Given the description of an element on the screen output the (x, y) to click on. 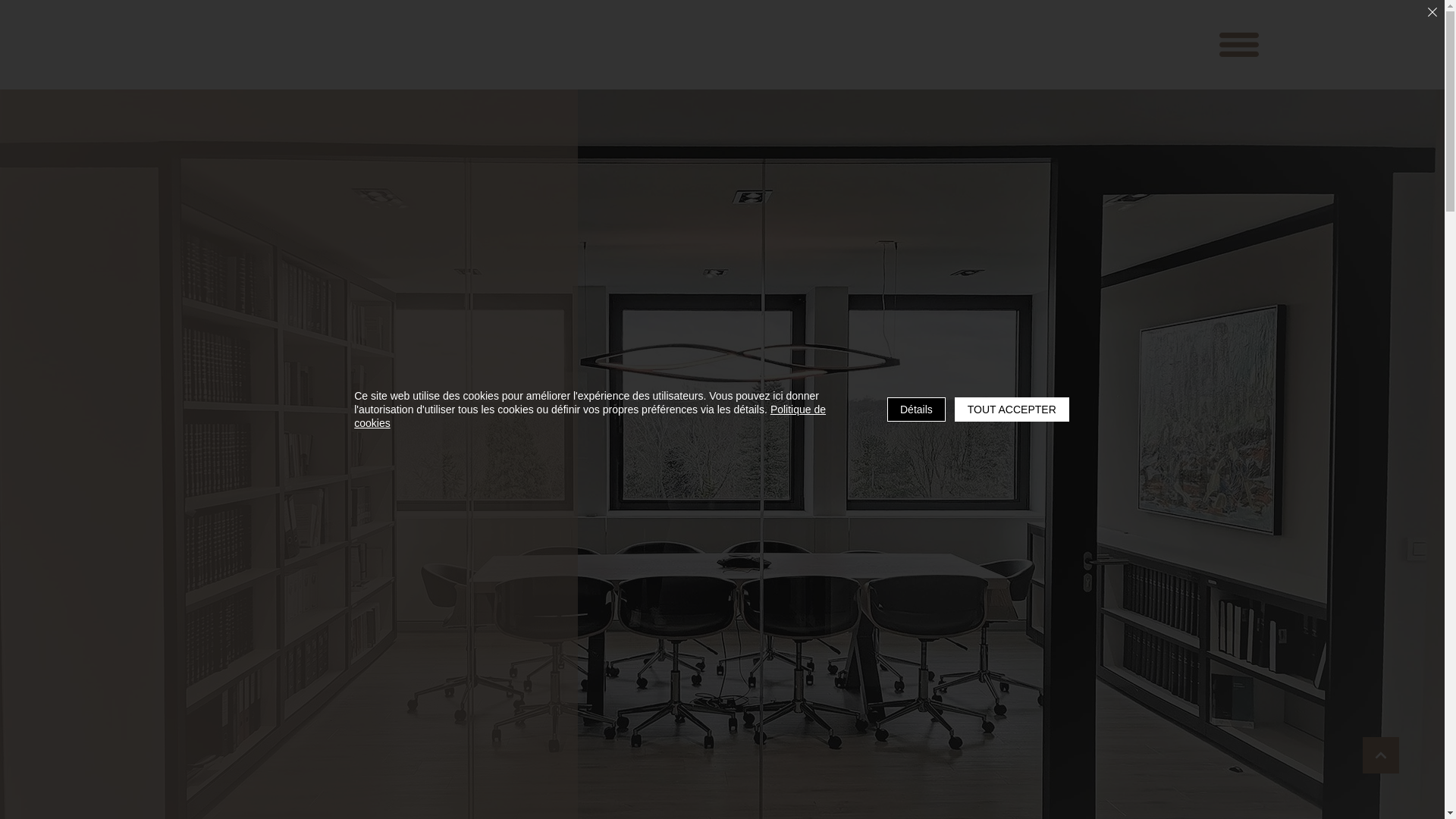
TOUT ACCEPTER Element type: text (1011, 409)
Politique de cookies Element type: text (589, 416)
